Given the description of an element on the screen output the (x, y) to click on. 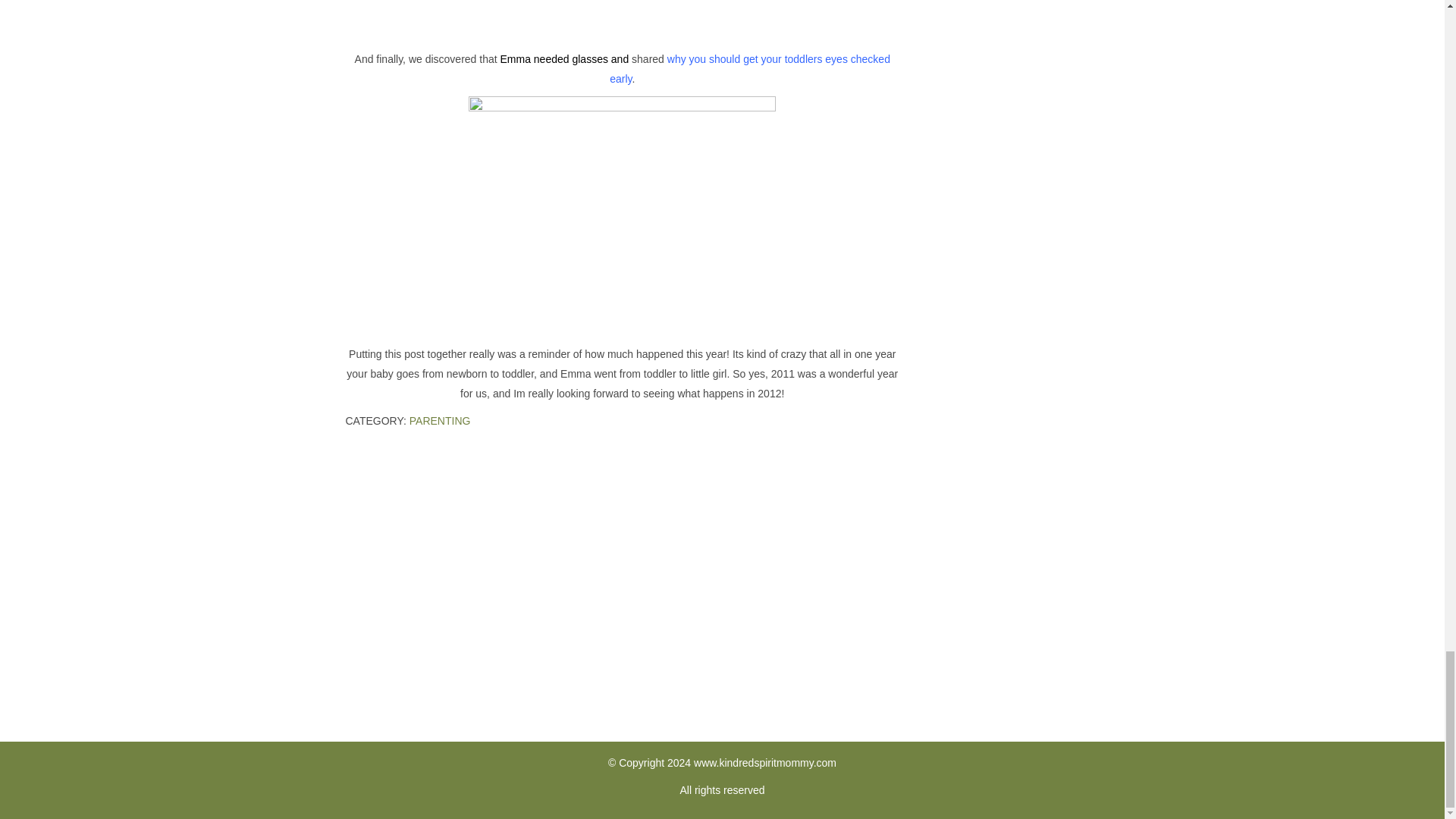
facebook (662, 629)
twitter (782, 629)
pinterest (721, 629)
